Given the description of an element on the screen output the (x, y) to click on. 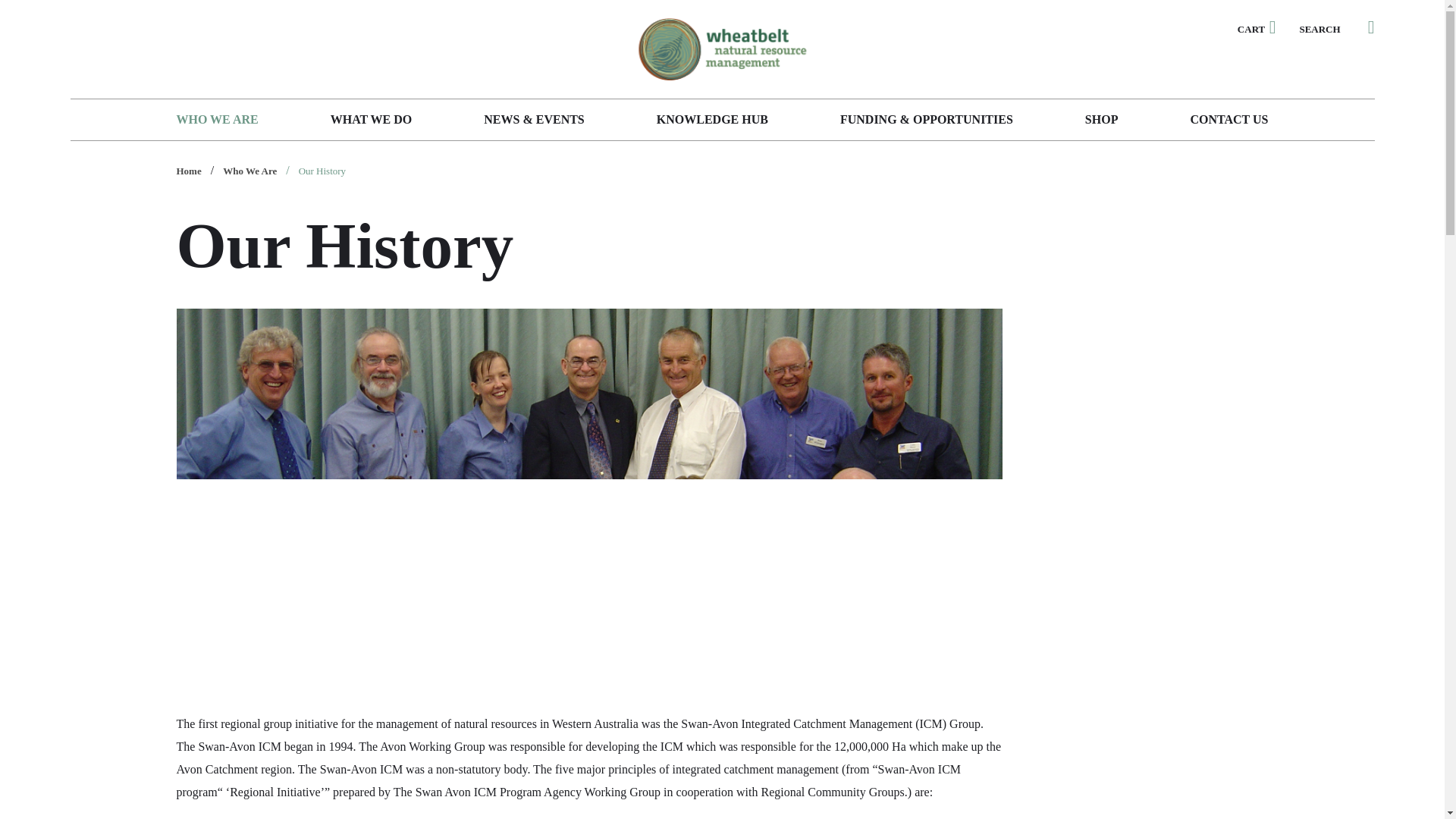
KNOWLEDGE HUB (712, 119)
Who We Are (216, 119)
Funding and Opportunities (926, 119)
WHAT WE DO (371, 119)
What We Do (371, 119)
WHO WE ARE (216, 119)
What's Happening (533, 119)
CONTACT US (1228, 119)
